Given the description of an element on the screen output the (x, y) to click on. 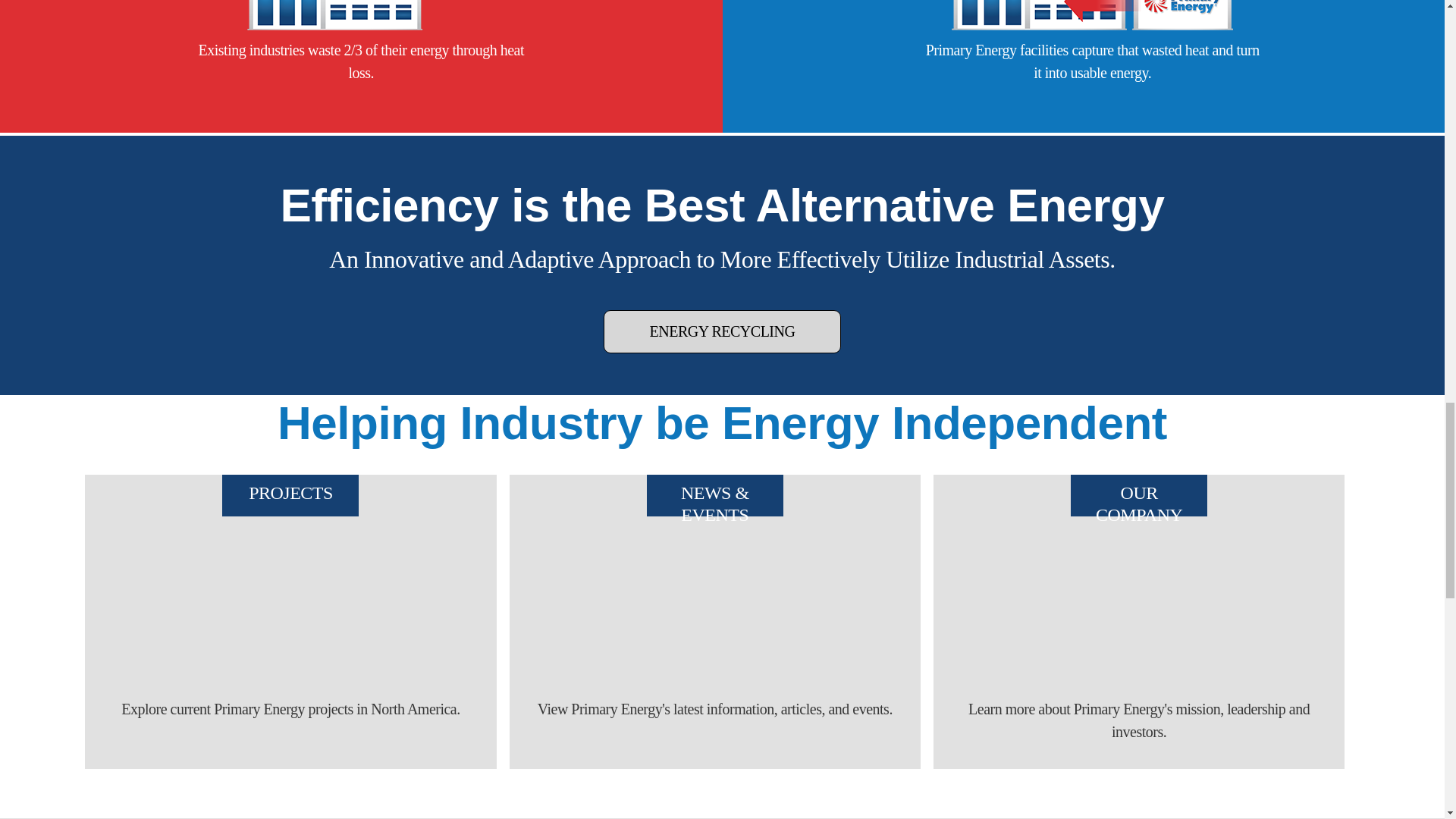
ENERGY RECYCLING (721, 330)
